Given the description of an element on the screen output the (x, y) to click on. 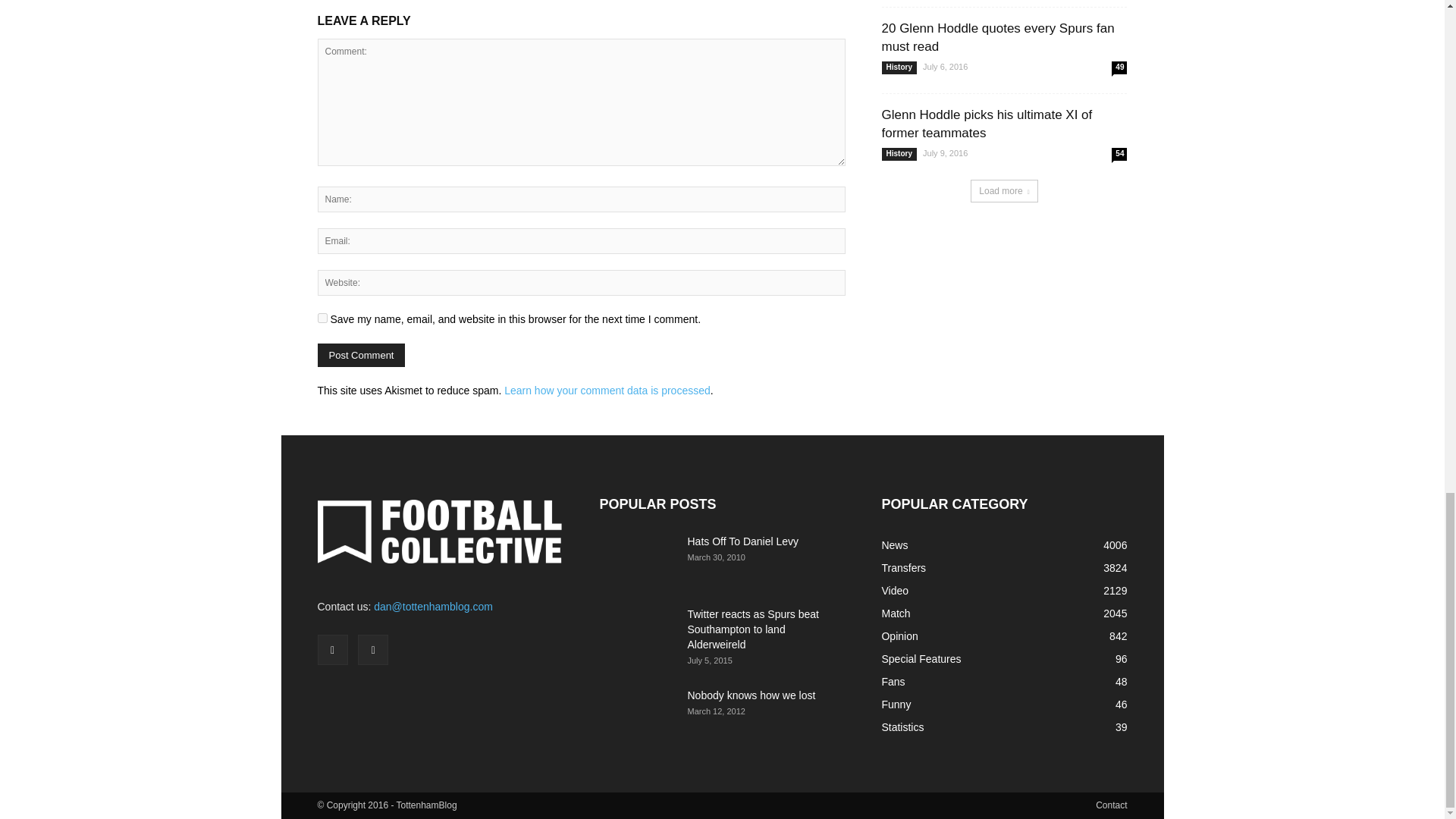
Post Comment (360, 354)
yes (321, 317)
20 Glenn Hoddle quotes every Spurs fan must read (996, 37)
